Given the description of an element on the screen output the (x, y) to click on. 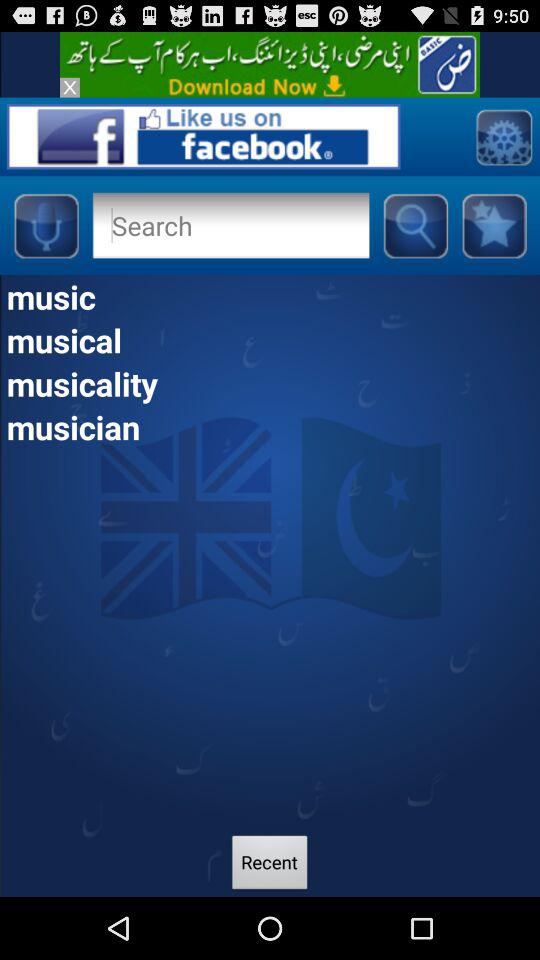
swipe to the musical app (270, 339)
